Given the description of an element on the screen output the (x, y) to click on. 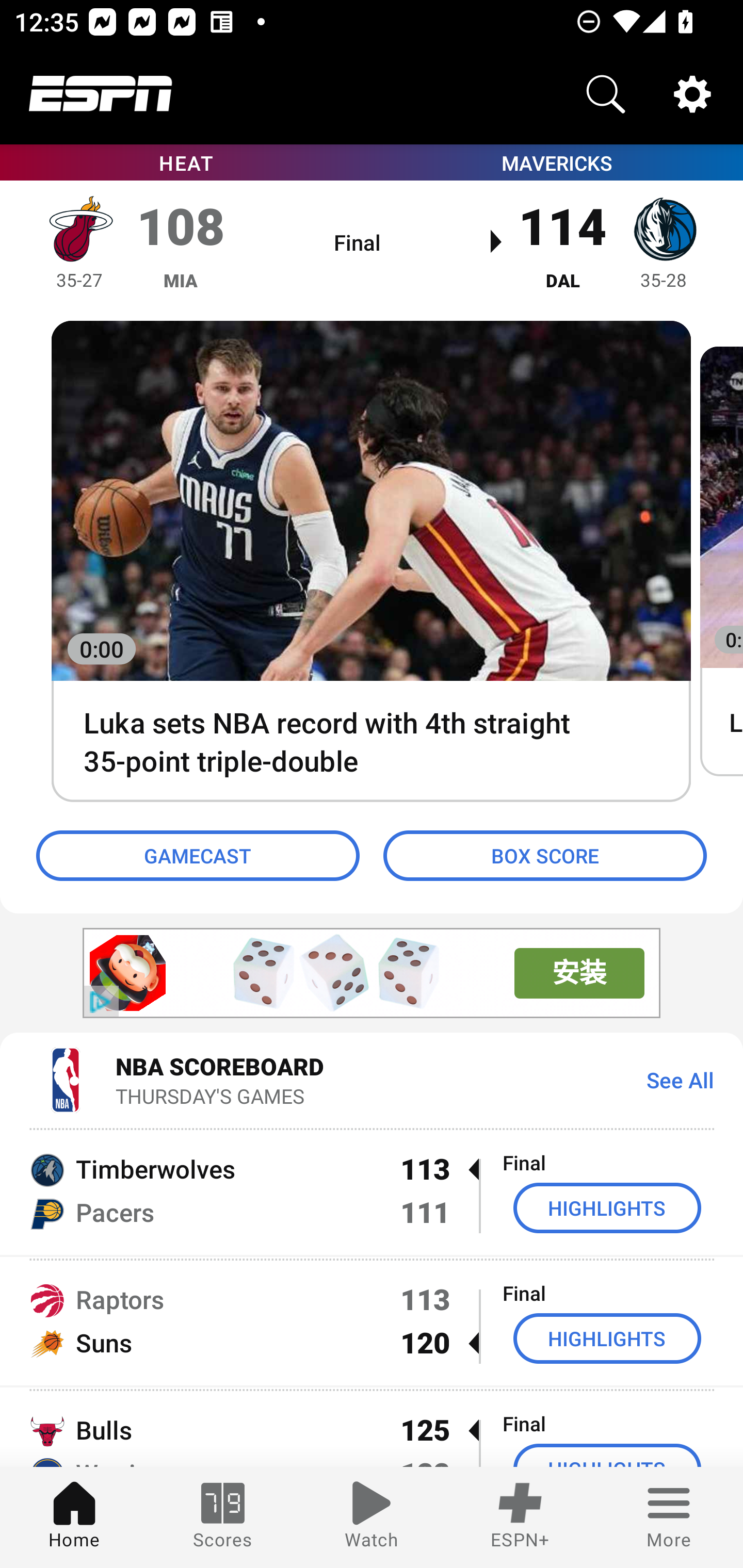
Search (605, 93)
Settings (692, 93)
GAMECAST (197, 856)
BOX SCORE (544, 856)
90ddee7bfe49407238cd (128, 973)
安装 (578, 972)
NBA SCOREBOARD THURSDAY'S GAMES See All (371, 1079)
Timberwolves 113  Final Pacers 111 HIGHLIGHTS (371, 1189)
HIGHLIGHTS (607, 1208)
Raptors 113 Final Suns 120  HIGHLIGHTS (371, 1321)
HIGHLIGHTS (607, 1338)
Bulls 125  Final Warriors 122 HIGHLIGHTS (371, 1427)
Scores (222, 1517)
Watch (371, 1517)
ESPN+ (519, 1517)
More (668, 1517)
